Given the description of an element on the screen output the (x, y) to click on. 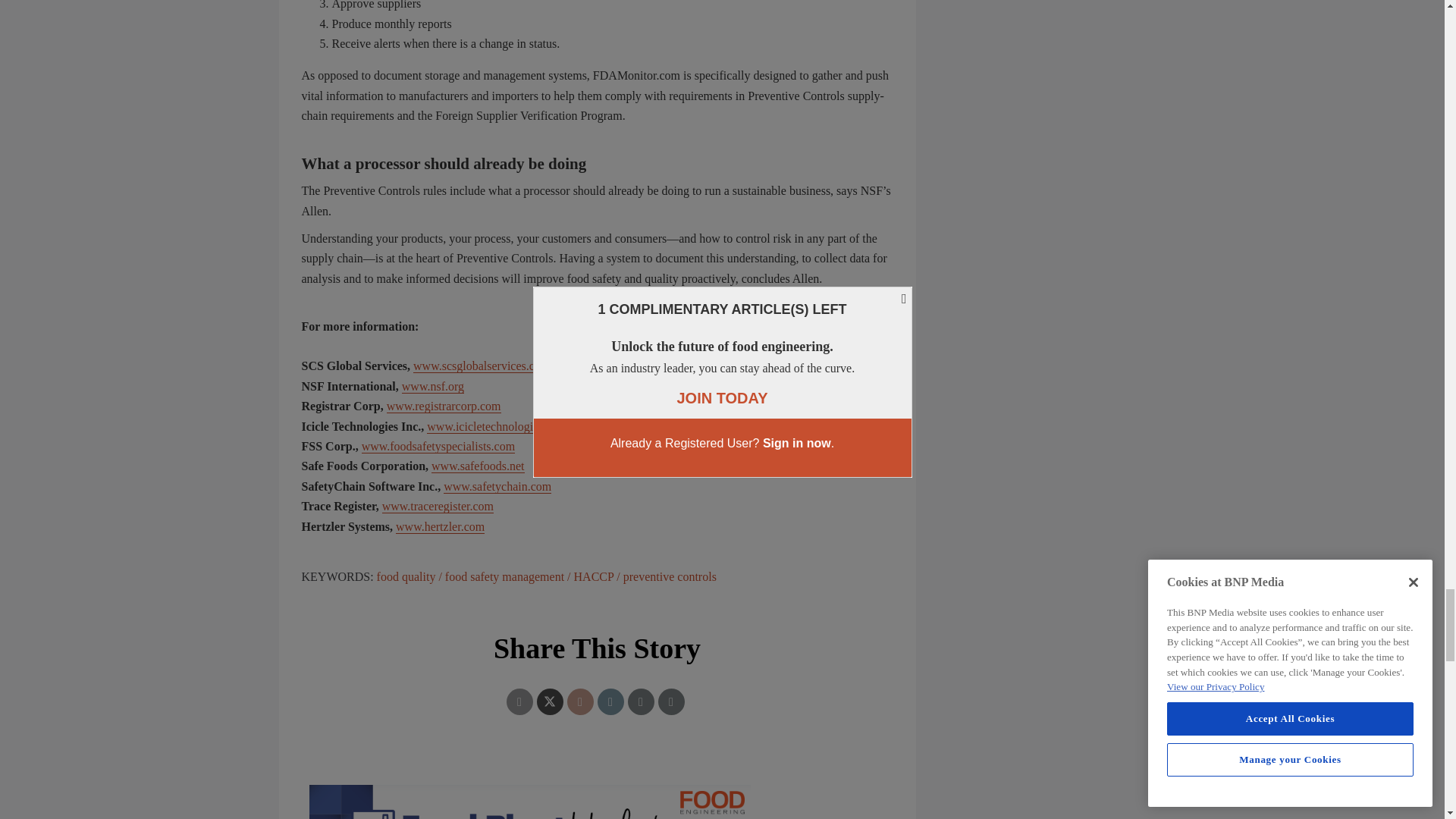
Interaction questions (597, 794)
